Given the description of an element on the screen output the (x, y) to click on. 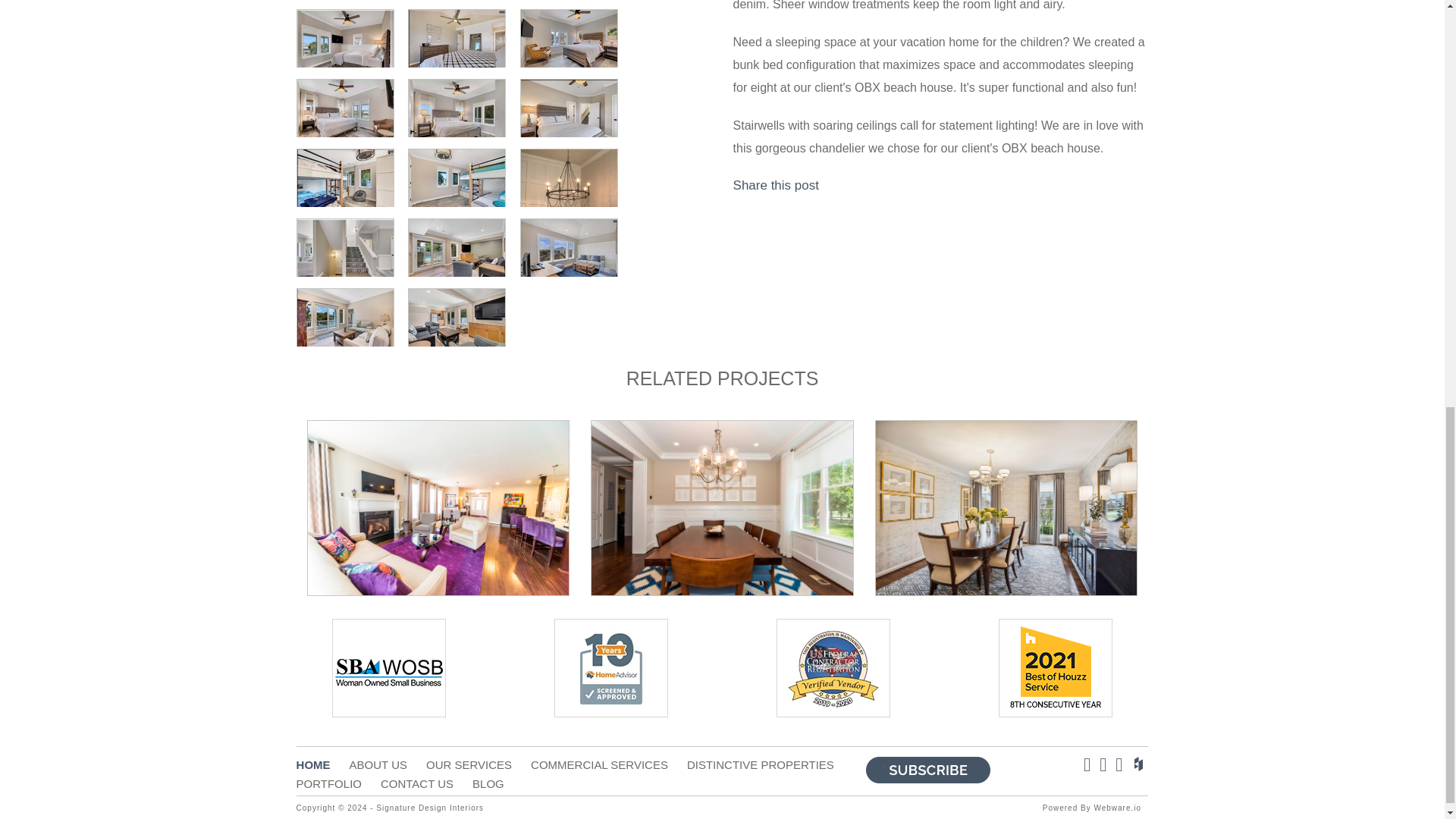
HOME (323, 764)
